Given the description of an element on the screen output the (x, y) to click on. 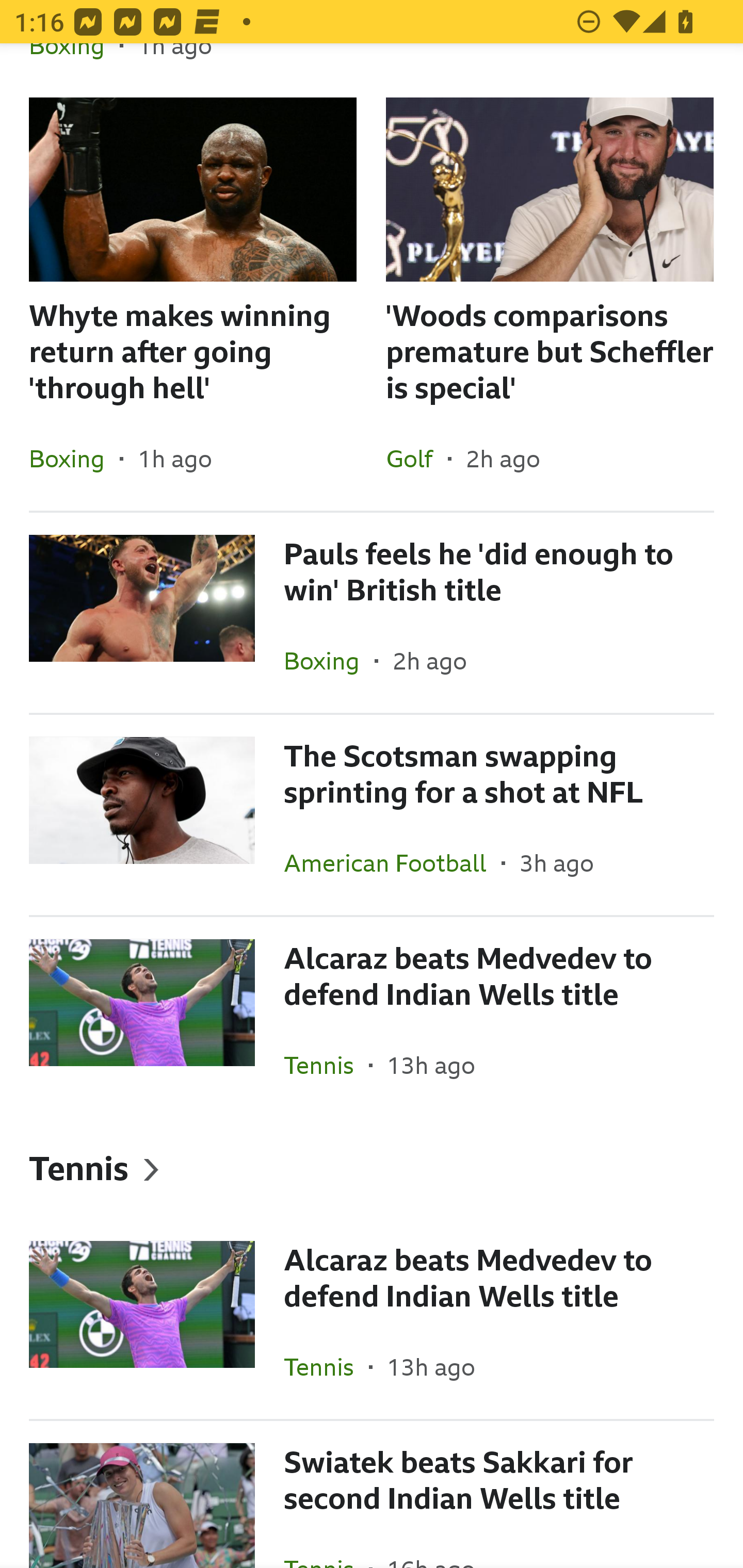
Tennis, Heading Tennis    (371, 1167)
